Given the description of an element on the screen output the (x, y) to click on. 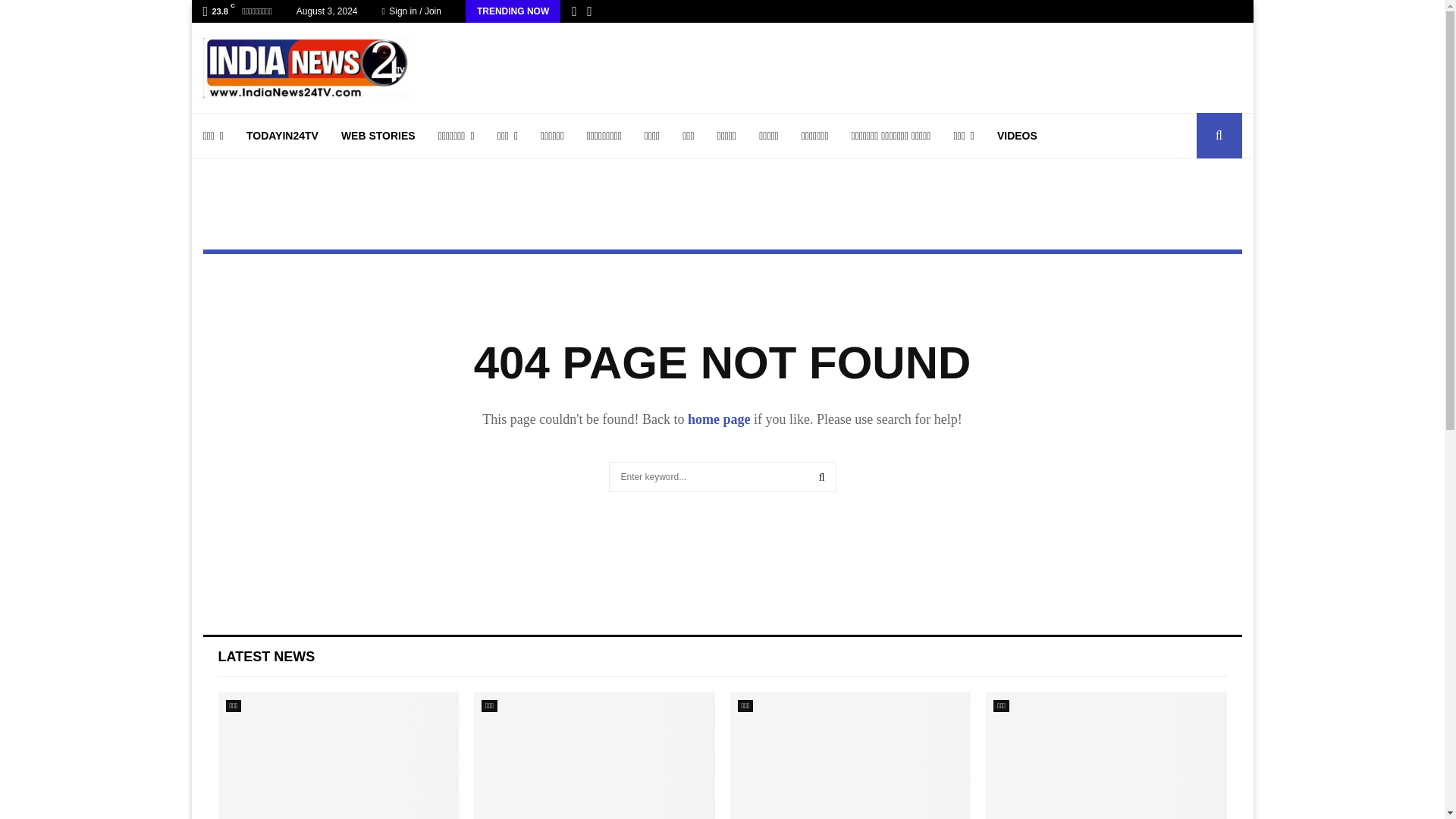
Login to your account (722, 293)
WEB STORIES (377, 135)
Sign up new account (722, 415)
TODAYIN24TV (282, 135)
Latest News (266, 656)
